Given the description of an element on the screen output the (x, y) to click on. 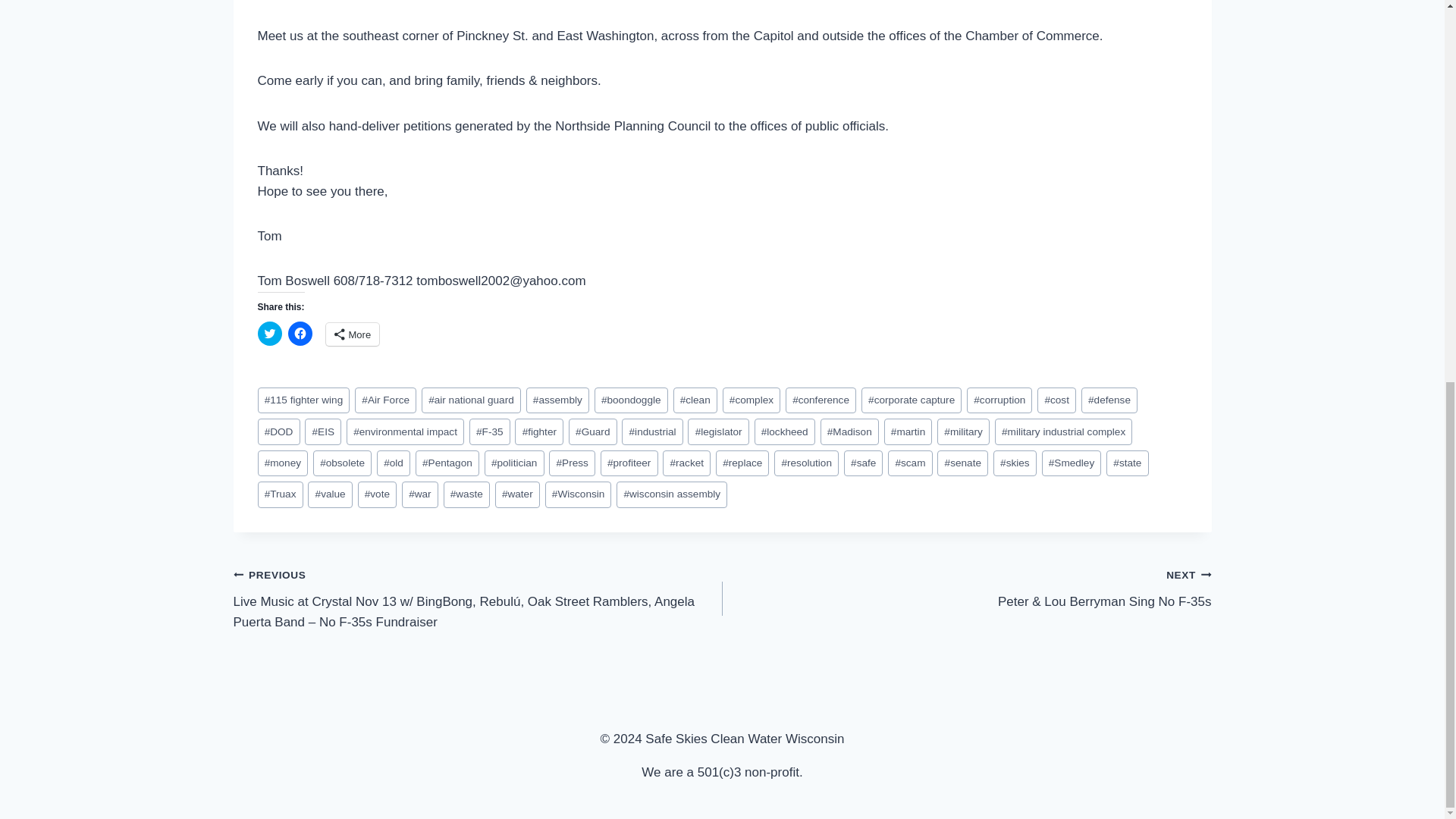
Click to share on Facebook (300, 333)
clean (694, 400)
complex (751, 400)
conference (821, 400)
More (353, 333)
boondoggle (631, 400)
Air Force (385, 400)
air national guard (471, 400)
Click to share on Twitter (269, 333)
corruption (999, 400)
